Given the description of an element on the screen output the (x, y) to click on. 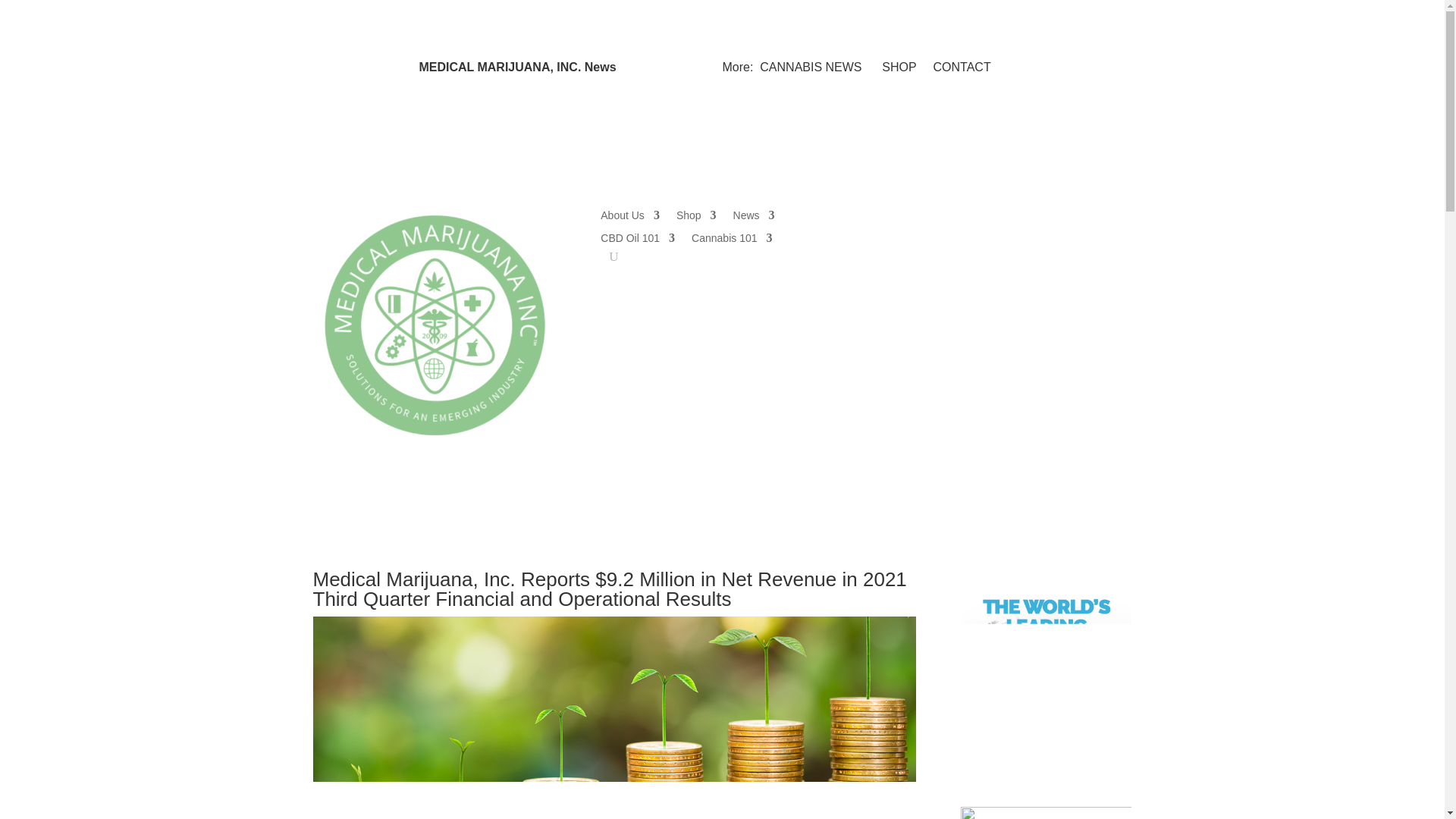
CONTACT (962, 66)
CBD Oil 101 (637, 240)
Follow on Instagram (1009, 215)
Follow on Facebook (948, 215)
Cannabis 101 (731, 240)
Shop (696, 217)
SHOP (898, 66)
News (753, 217)
Follow on Youtube (1070, 215)
